Given the description of an element on the screen output the (x, y) to click on. 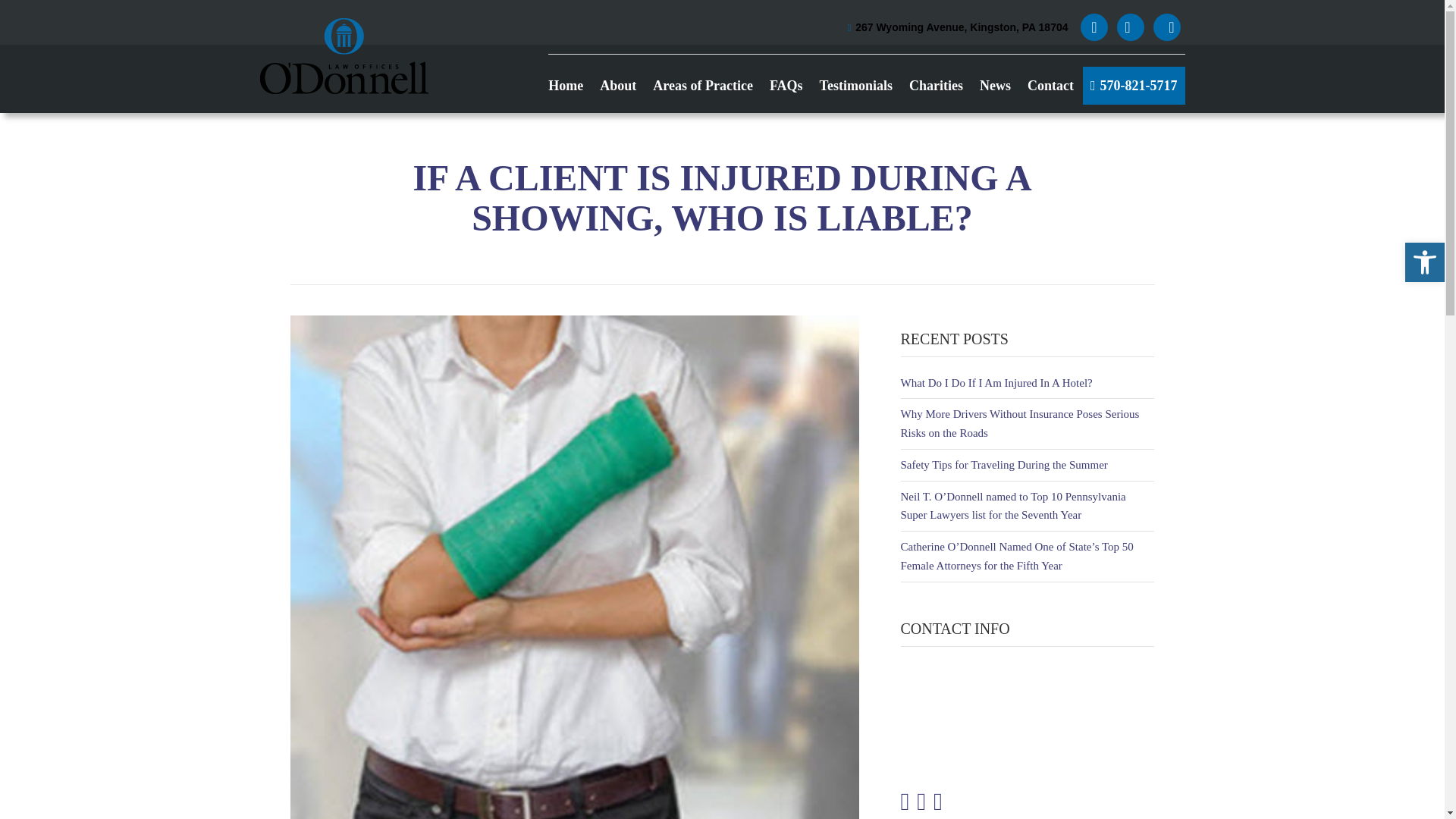
Charities (935, 85)
Areas of Practice (702, 85)
Accessibility Tools (1424, 262)
What Do I Do If I Am Injured In A Hotel? (997, 382)
267 Wyoming Avenue, Kingston, PA 18704 (957, 27)
570-821-5717 (1133, 85)
About (617, 85)
Contact (1050, 85)
Areas of Practice (702, 85)
Contact (1050, 85)
